Given the description of an element on the screen output the (x, y) to click on. 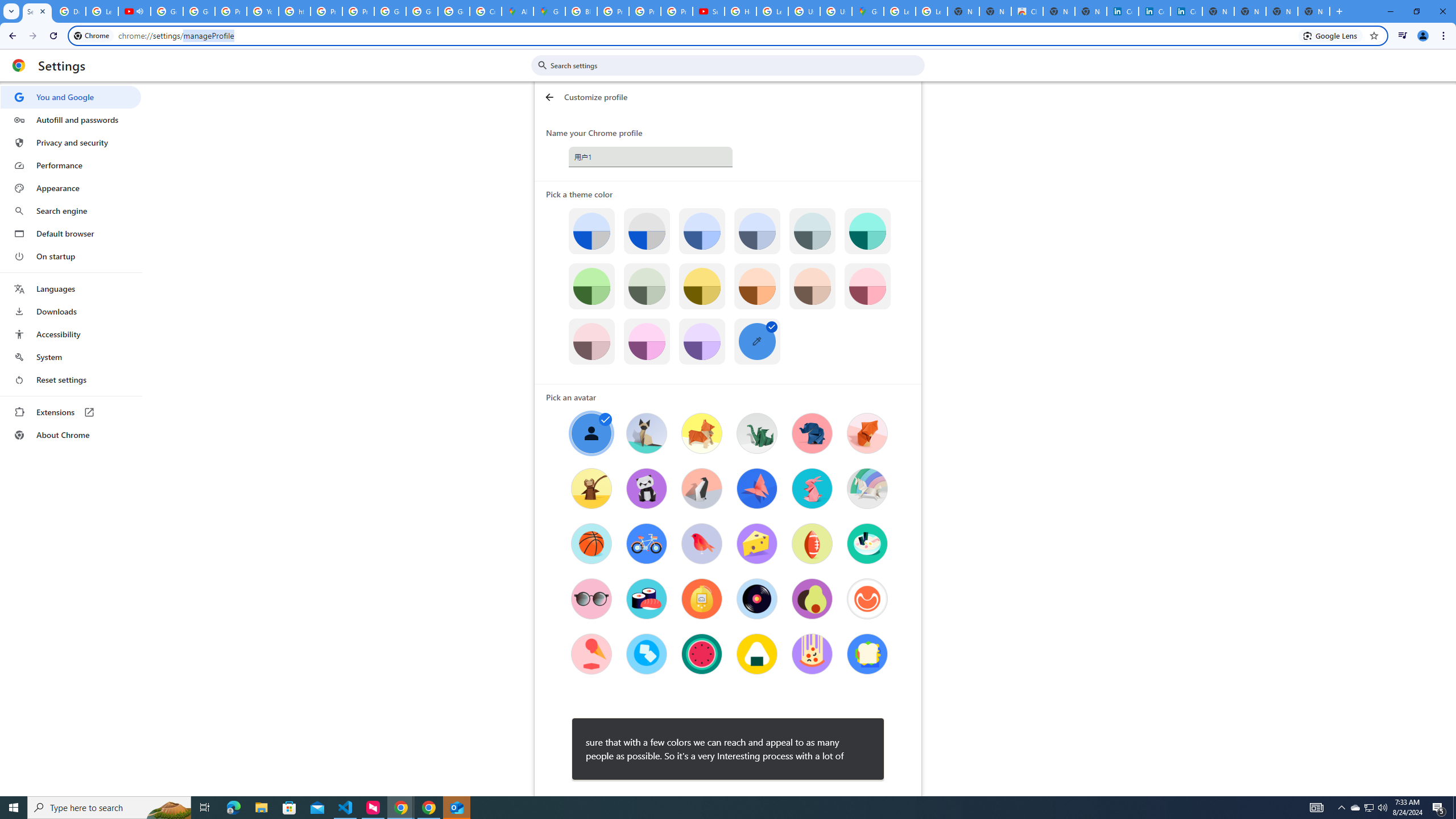
Extensions (70, 412)
Performance (70, 164)
Privacy Help Center - Policies Help (613, 11)
Privacy Help Center - Policies Help (644, 11)
Appearance (70, 187)
